Given the description of an element on the screen output the (x, y) to click on. 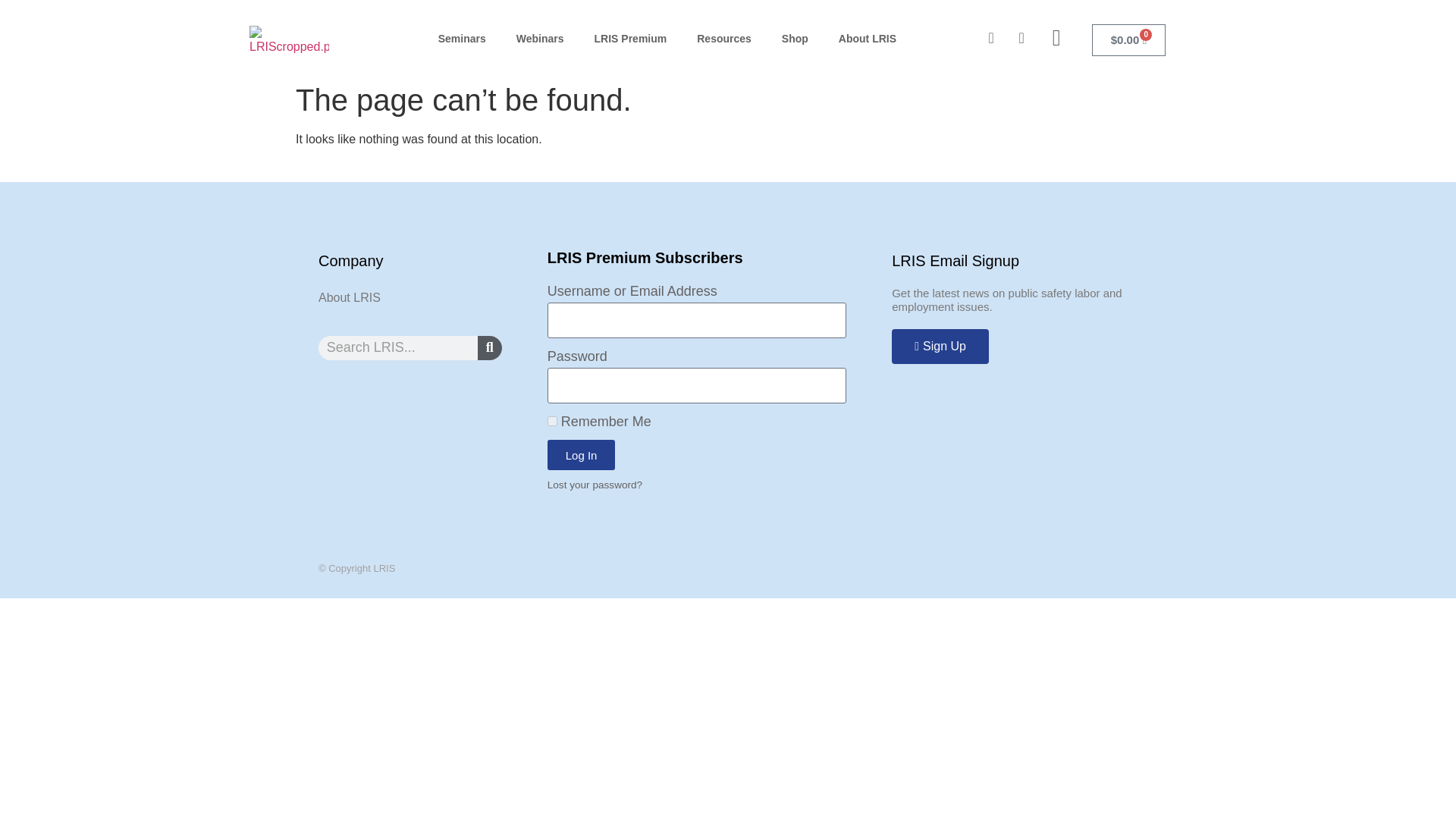
LRIScropped.png (288, 40)
Resources (724, 38)
Shop (795, 38)
Seminars (461, 38)
Webinars (539, 38)
forever (552, 420)
LRIS Premium (630, 38)
About LRIS (867, 38)
